Given the description of an element on the screen output the (x, y) to click on. 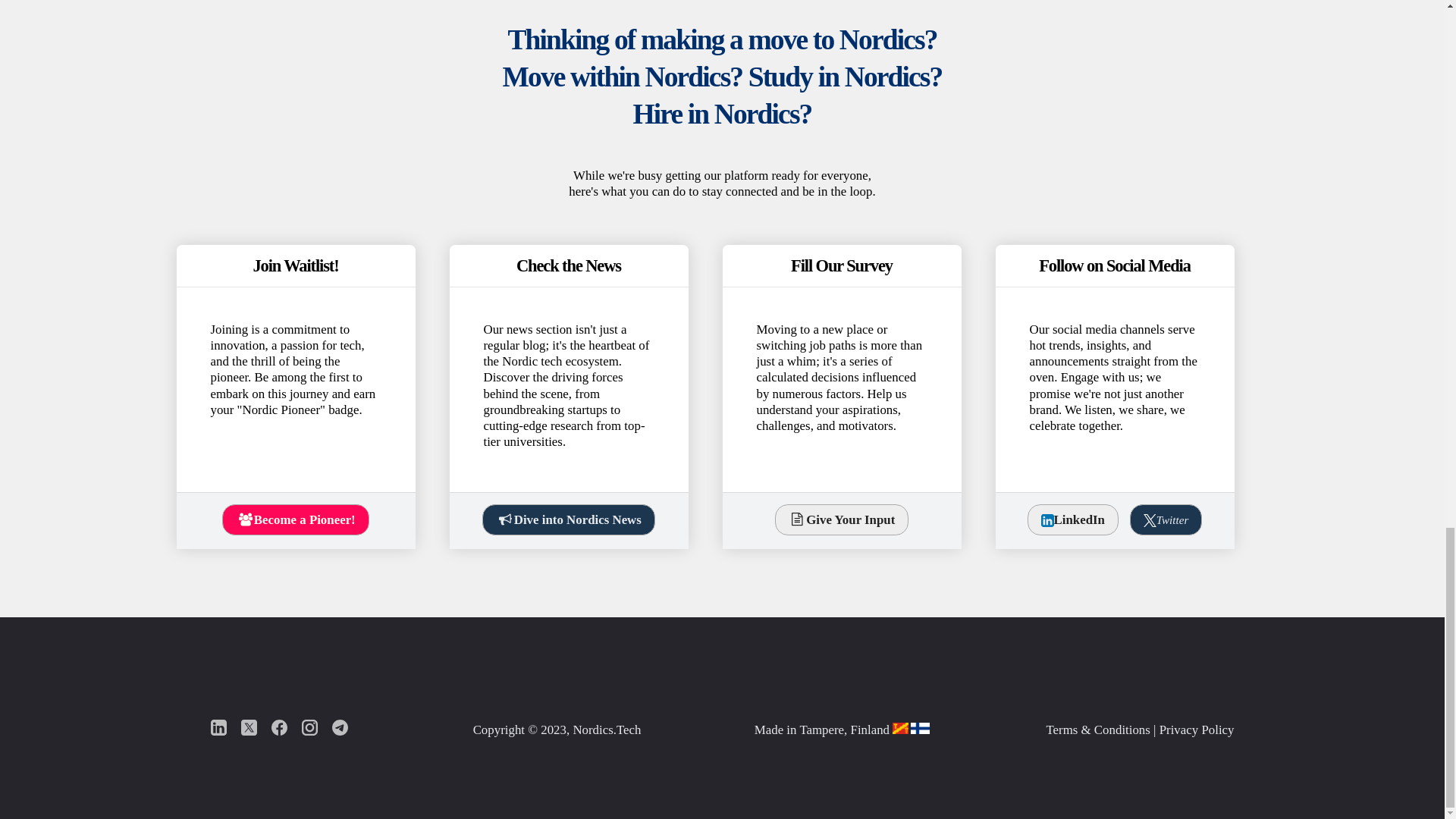
LinkedIn (1072, 519)
Give Your Input (841, 519)
Become a Pioneer! (295, 519)
Twitter (1165, 519)
Dive into Nordics News (567, 519)
